Given the description of an element on the screen output the (x, y) to click on. 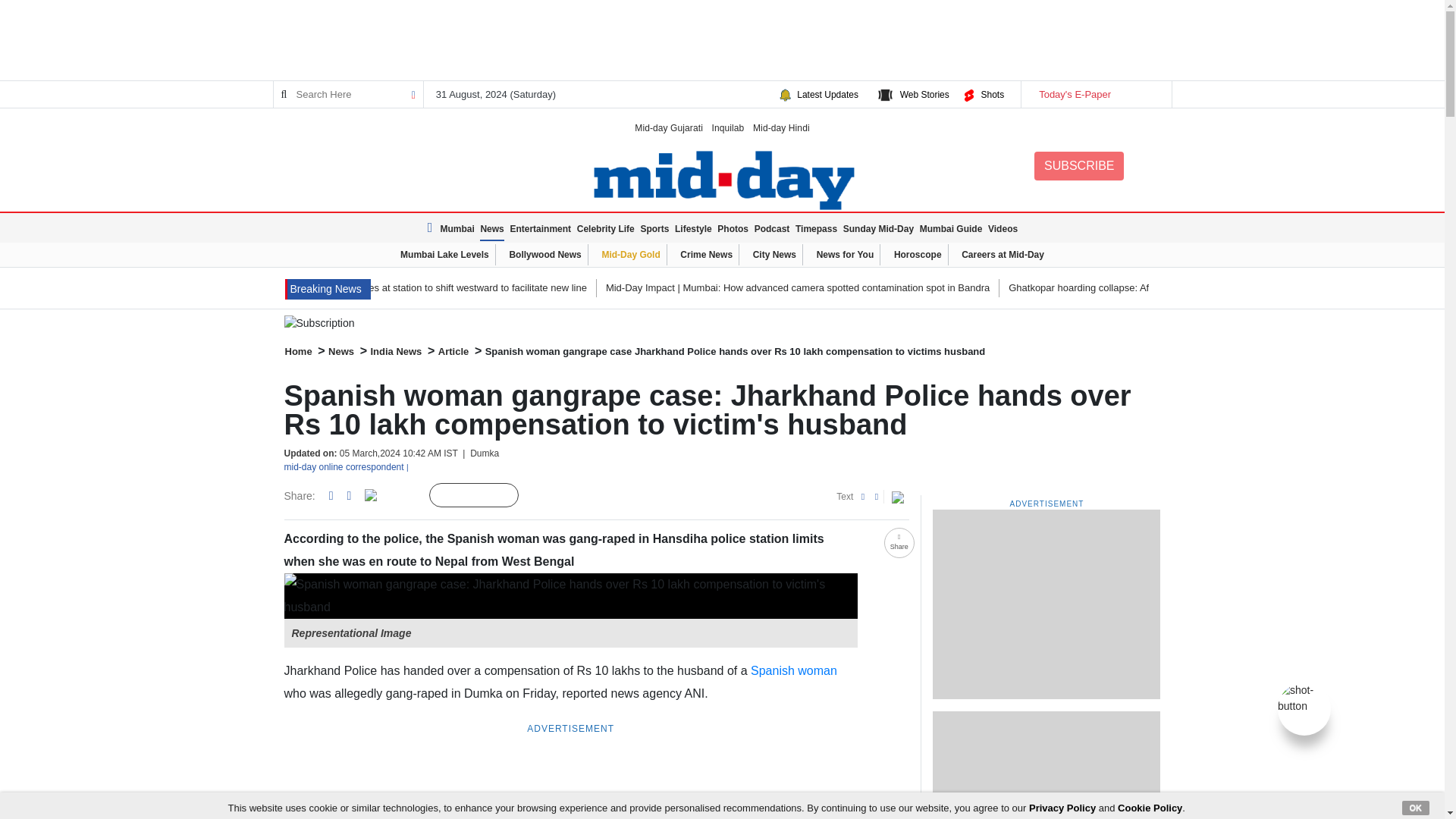
Inquilab (728, 127)
Subscription (721, 323)
Mid-day Hindi (780, 127)
Today's E-Paper (1095, 94)
SUBSCRIBE (1078, 165)
Midday Shot Videos (1304, 697)
Latest News (432, 227)
Latest Updates (827, 94)
Shots (991, 94)
